Given the description of an element on the screen output the (x, y) to click on. 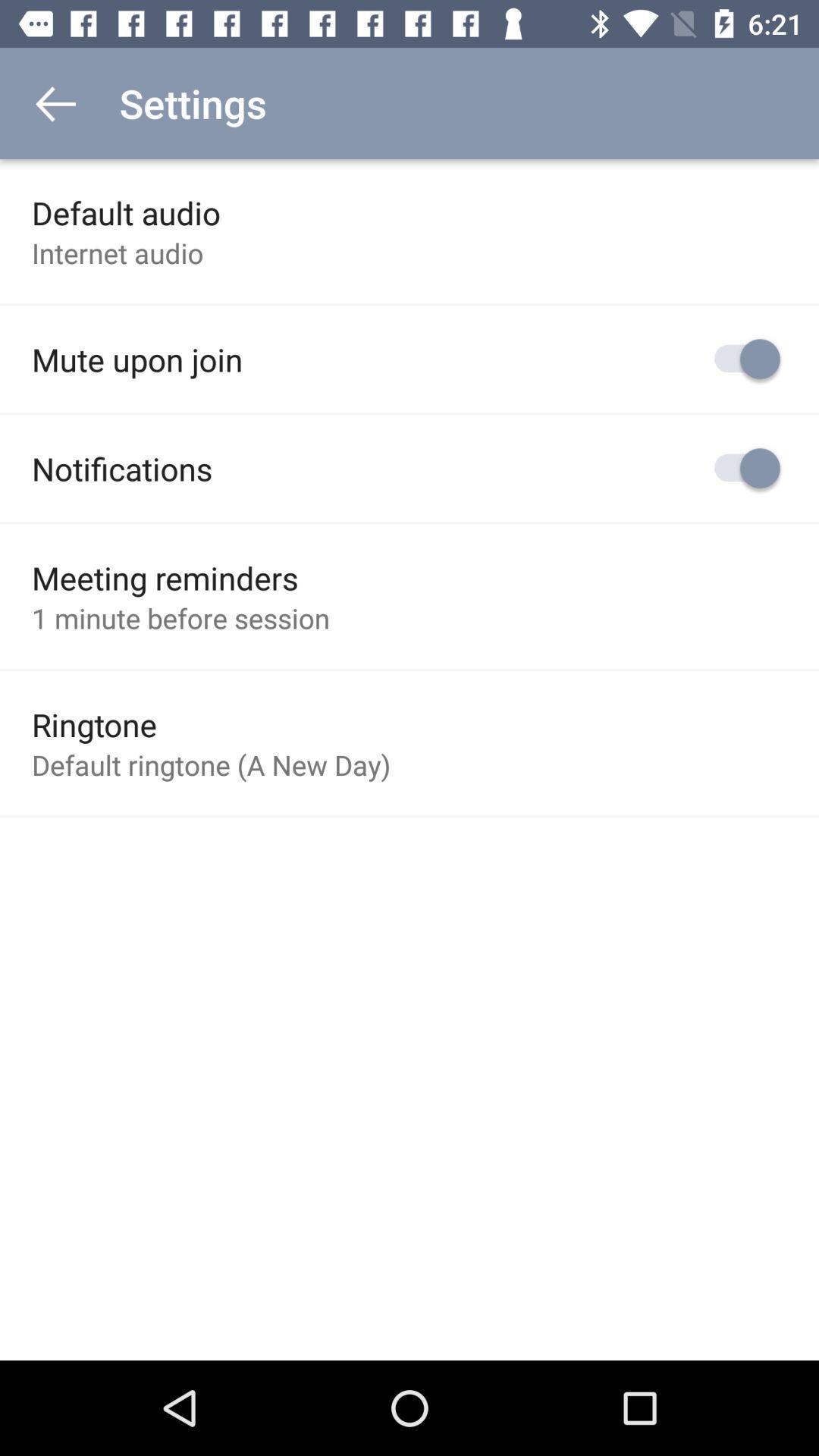
turn on default ringtone a item (210, 764)
